Given the description of an element on the screen output the (x, y) to click on. 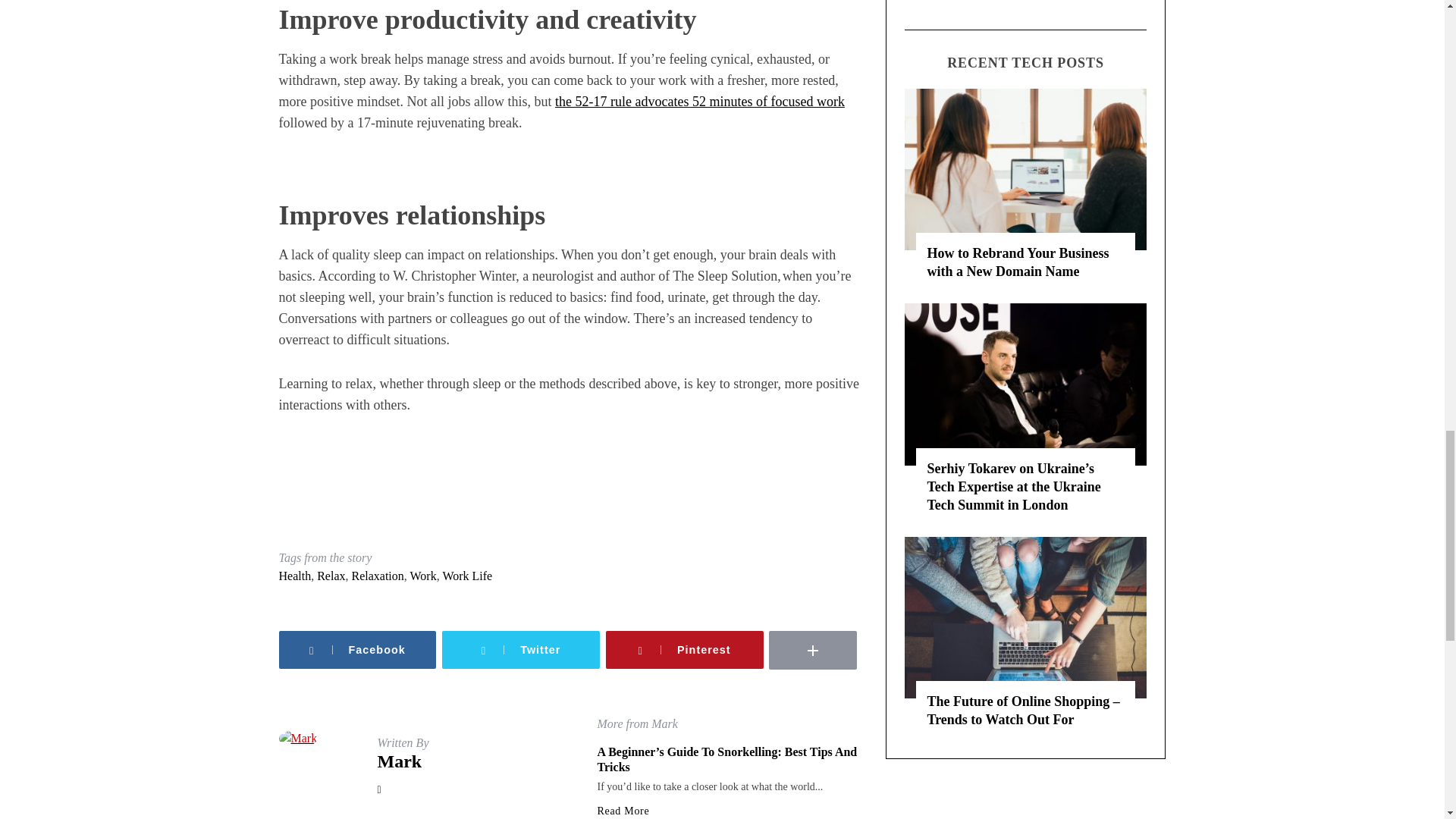
Facebook (357, 649)
Health (295, 575)
Relax (331, 575)
Work (423, 575)
Relaxation (376, 575)
the 52-17 rule advocates 52 minutes of focused work (699, 101)
Work Life (467, 575)
